Given the description of an element on the screen output the (x, y) to click on. 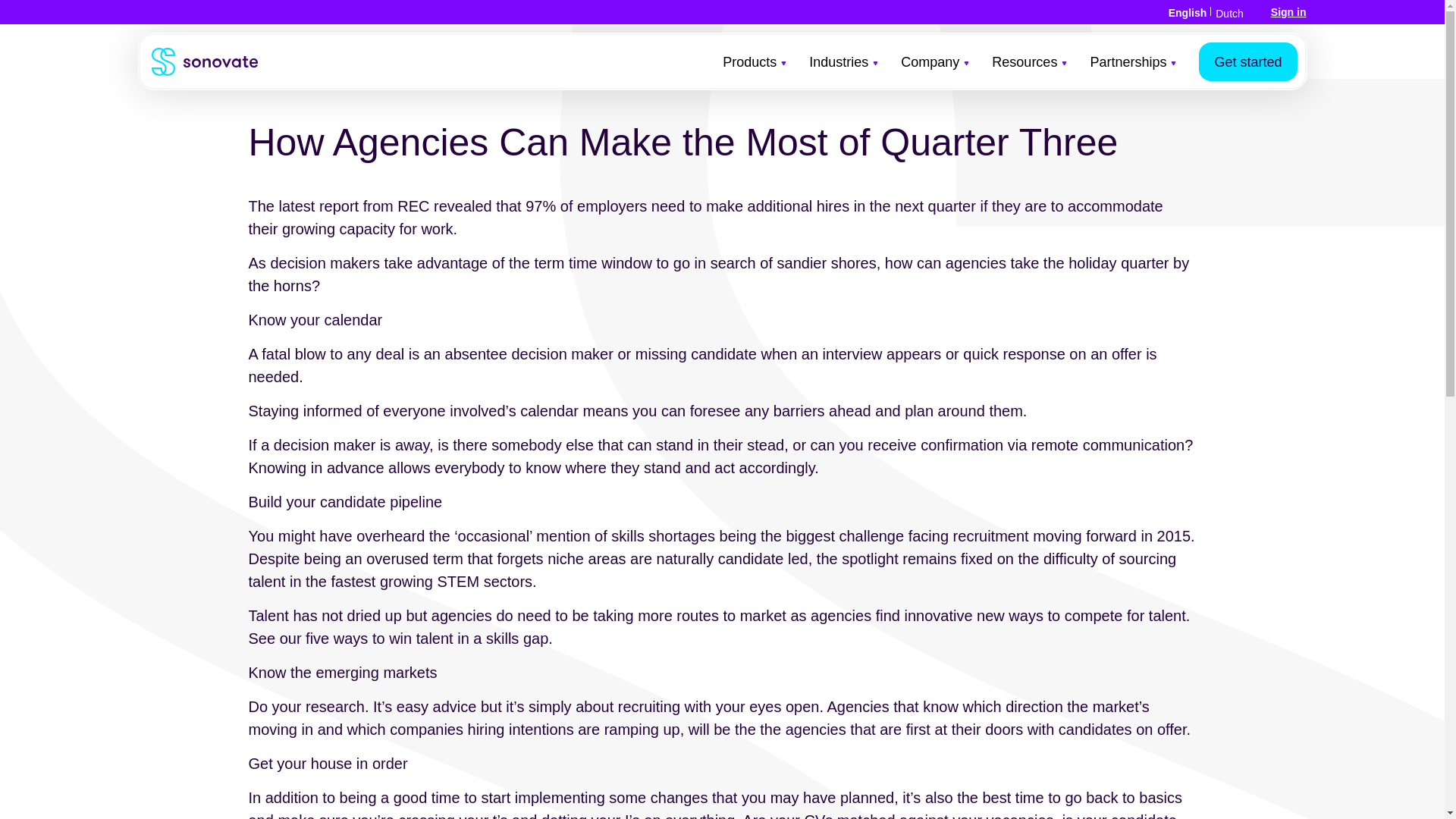
English (1188, 12)
Dutch (1229, 13)
English (1188, 12)
Dutch (1229, 13)
Products (754, 76)
Sign in (1288, 11)
